Given the description of an element on the screen output the (x, y) to click on. 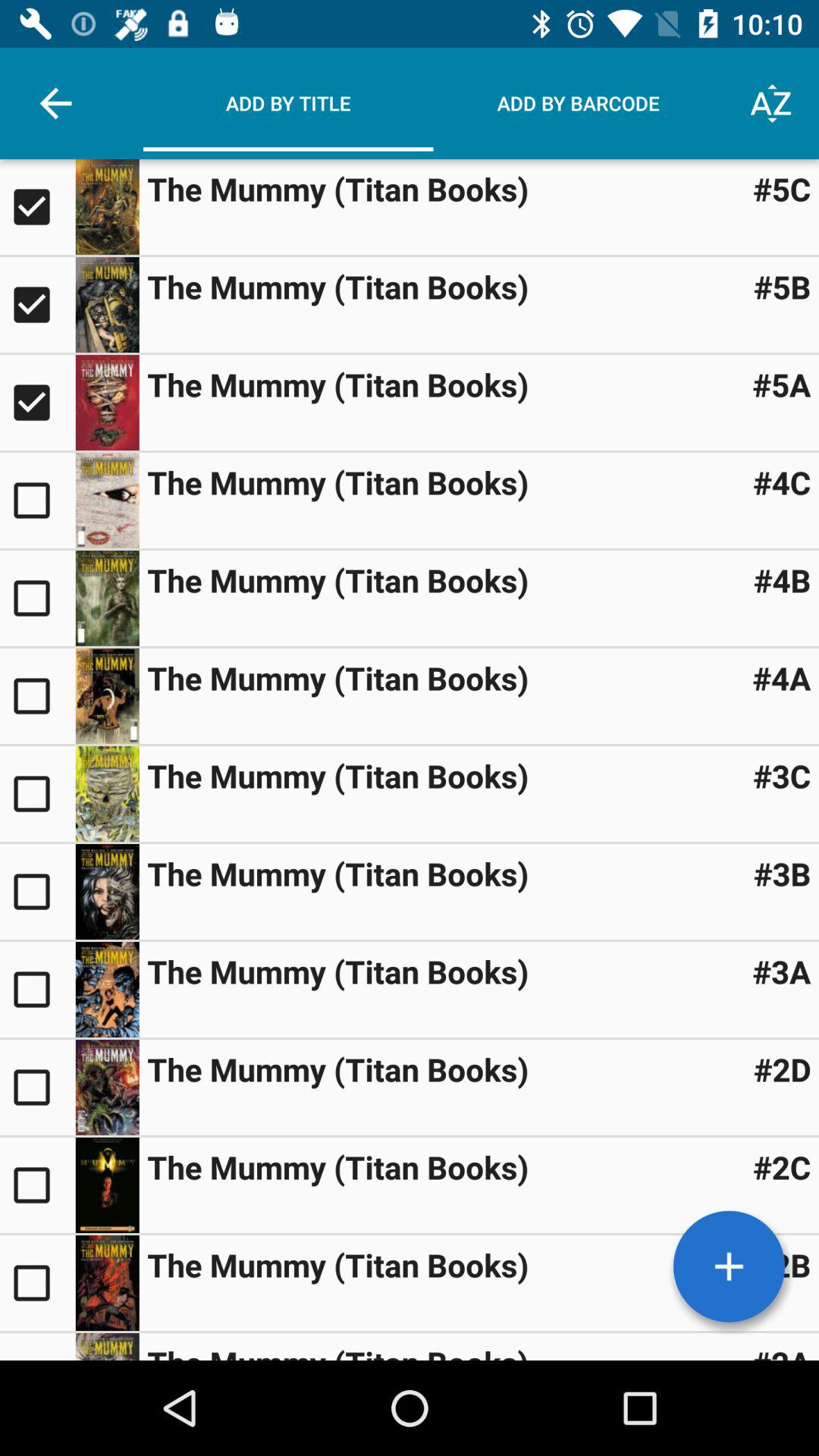
visit page (107, 1282)
